Given the description of an element on the screen output the (x, y) to click on. 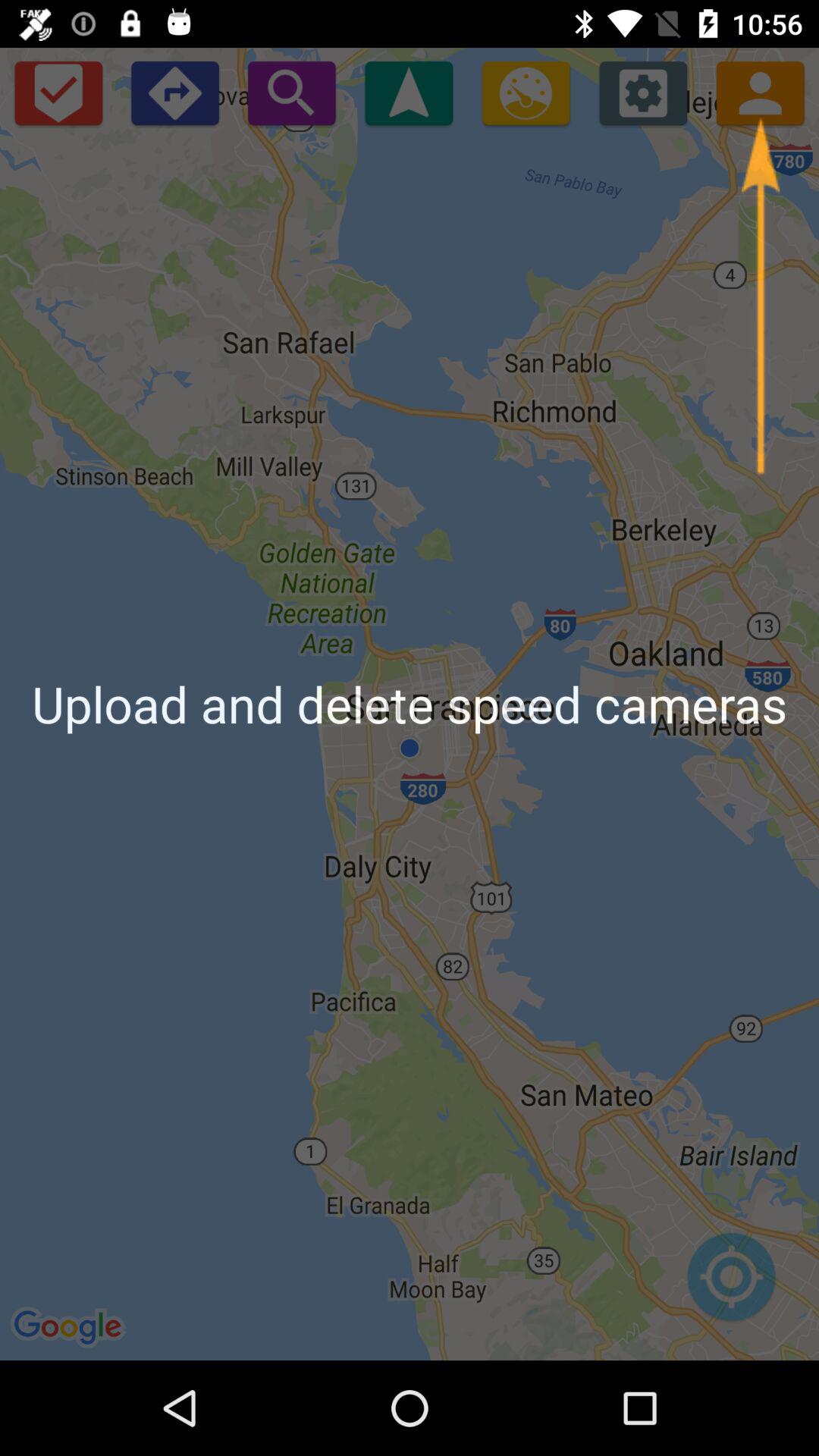
direction button (174, 92)
